Given the description of an element on the screen output the (x, y) to click on. 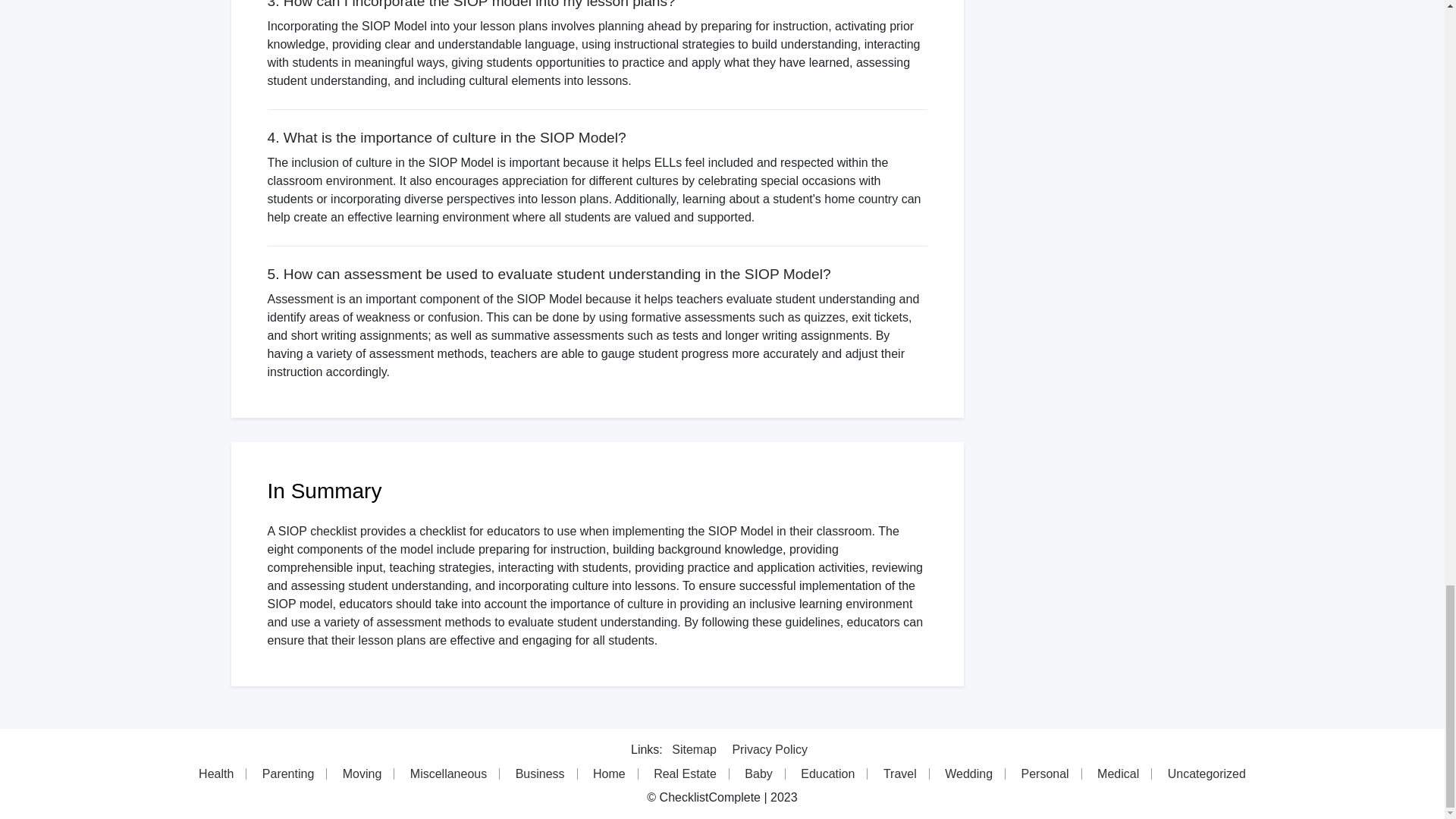
Real Estate (685, 773)
Parenting (288, 773)
Home (609, 773)
Privacy Policy (770, 748)
Business (540, 773)
Miscellaneous (448, 773)
Medical (1117, 773)
Personal (1045, 773)
Moving (362, 773)
Health (216, 773)
Uncategorized (1206, 773)
Education (828, 773)
Wedding (969, 773)
Travel (900, 773)
Baby (758, 773)
